Given the description of an element on the screen output the (x, y) to click on. 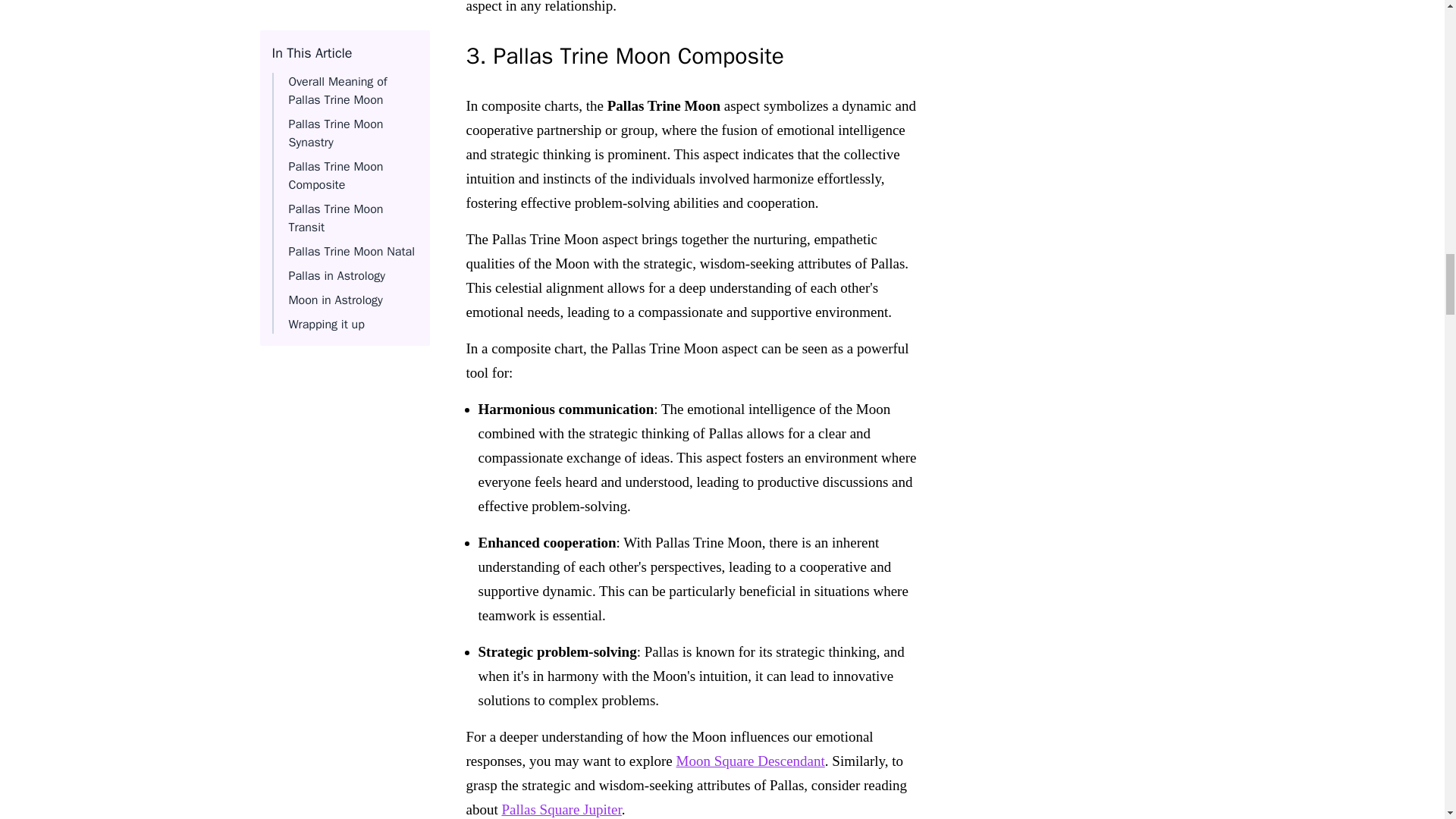
Moon Square Descendant (751, 760)
Pallas Square Jupiter (560, 809)
